Given the description of an element on the screen output the (x, y) to click on. 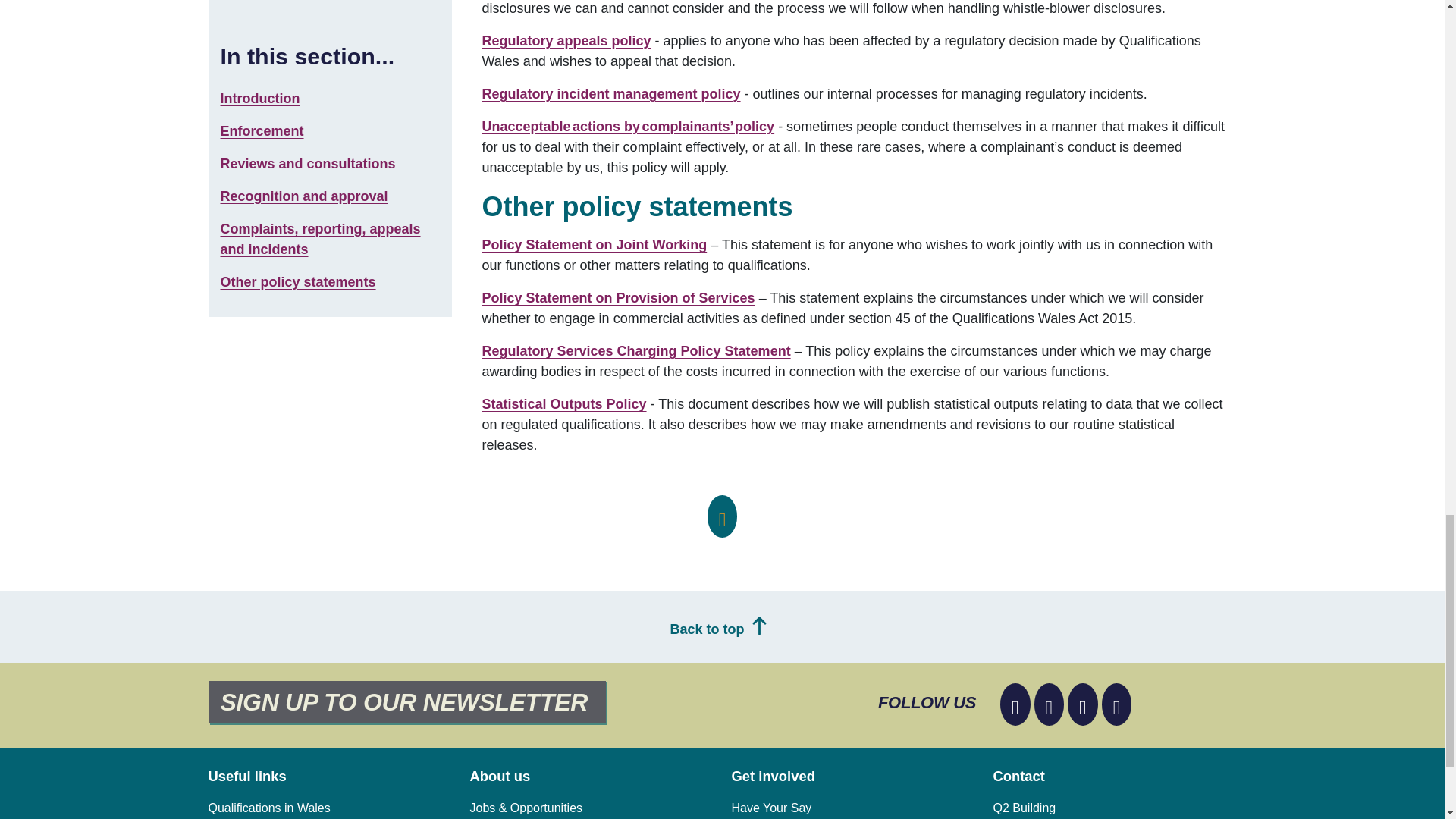
Unacceptable Actions By Complainants Policy (627, 126)
Regulatory Appeals Policy (565, 40)
Policy Statement On Joint Working (594, 244)
Regulatory Incident Management Policy (611, 93)
